Given the description of an element on the screen output the (x, y) to click on. 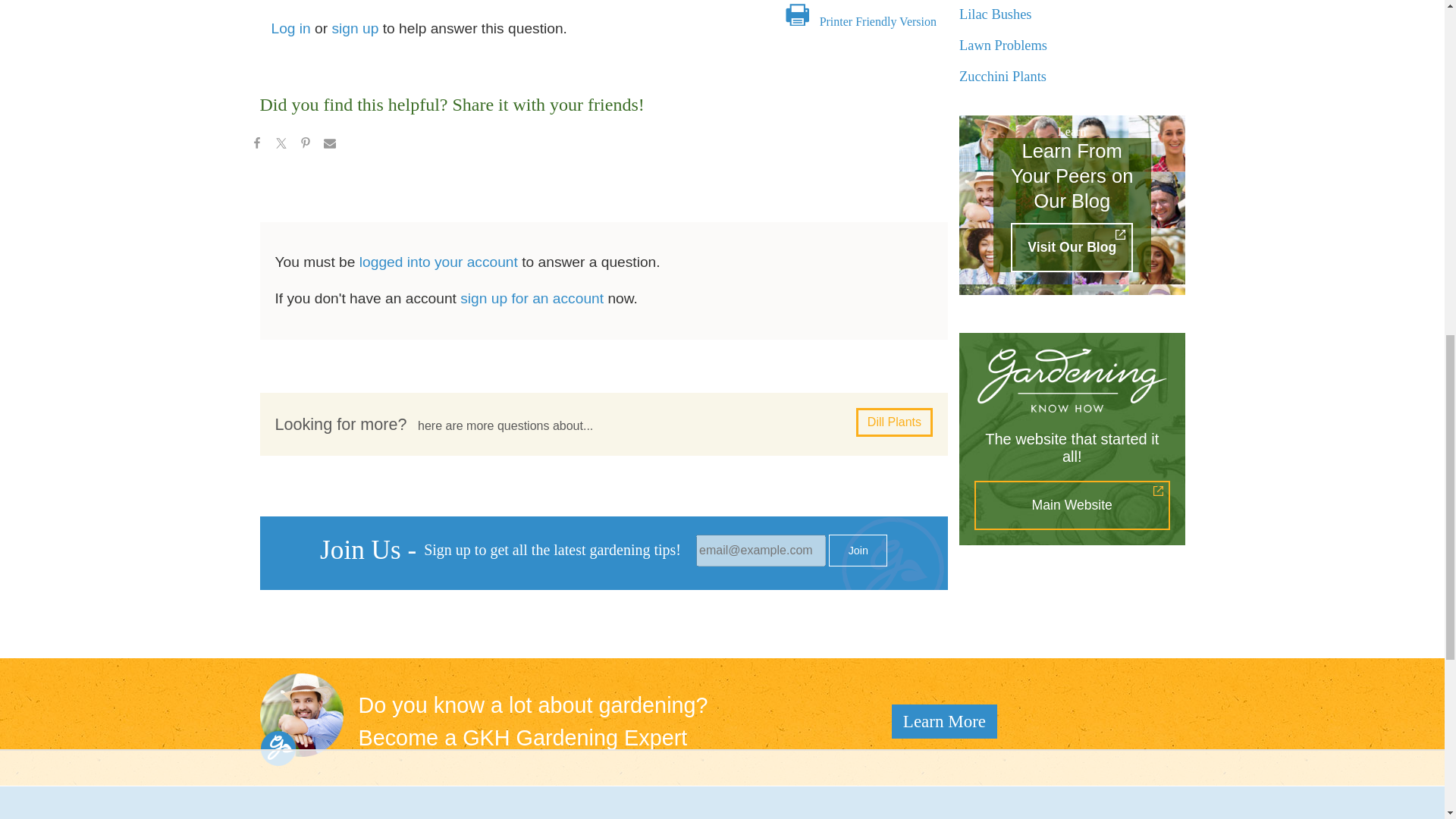
Log in (290, 28)
Share via Email (328, 145)
Share on Facebook (255, 145)
Dill Plants (894, 421)
sign up (354, 28)
logged into your account (438, 261)
sign up for an account (532, 298)
Share on Pinterest (304, 145)
Printer Friendly Version (877, 21)
Printer Friendly Version (877, 21)
Join (857, 550)
Share on Twitter (279, 145)
